Given the description of an element on the screen output the (x, y) to click on. 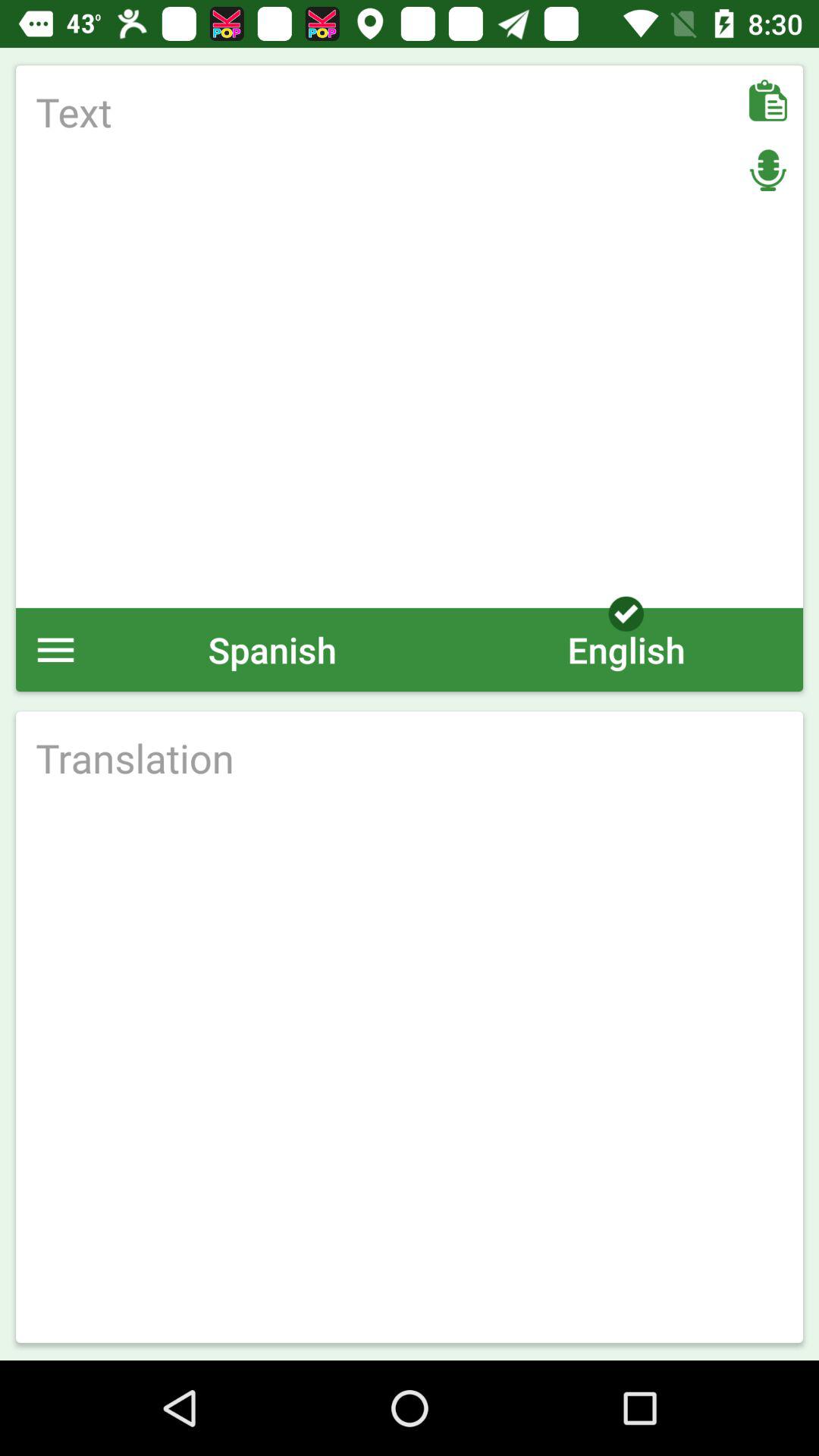
microphone options (768, 170)
